Given the description of an element on the screen output the (x, y) to click on. 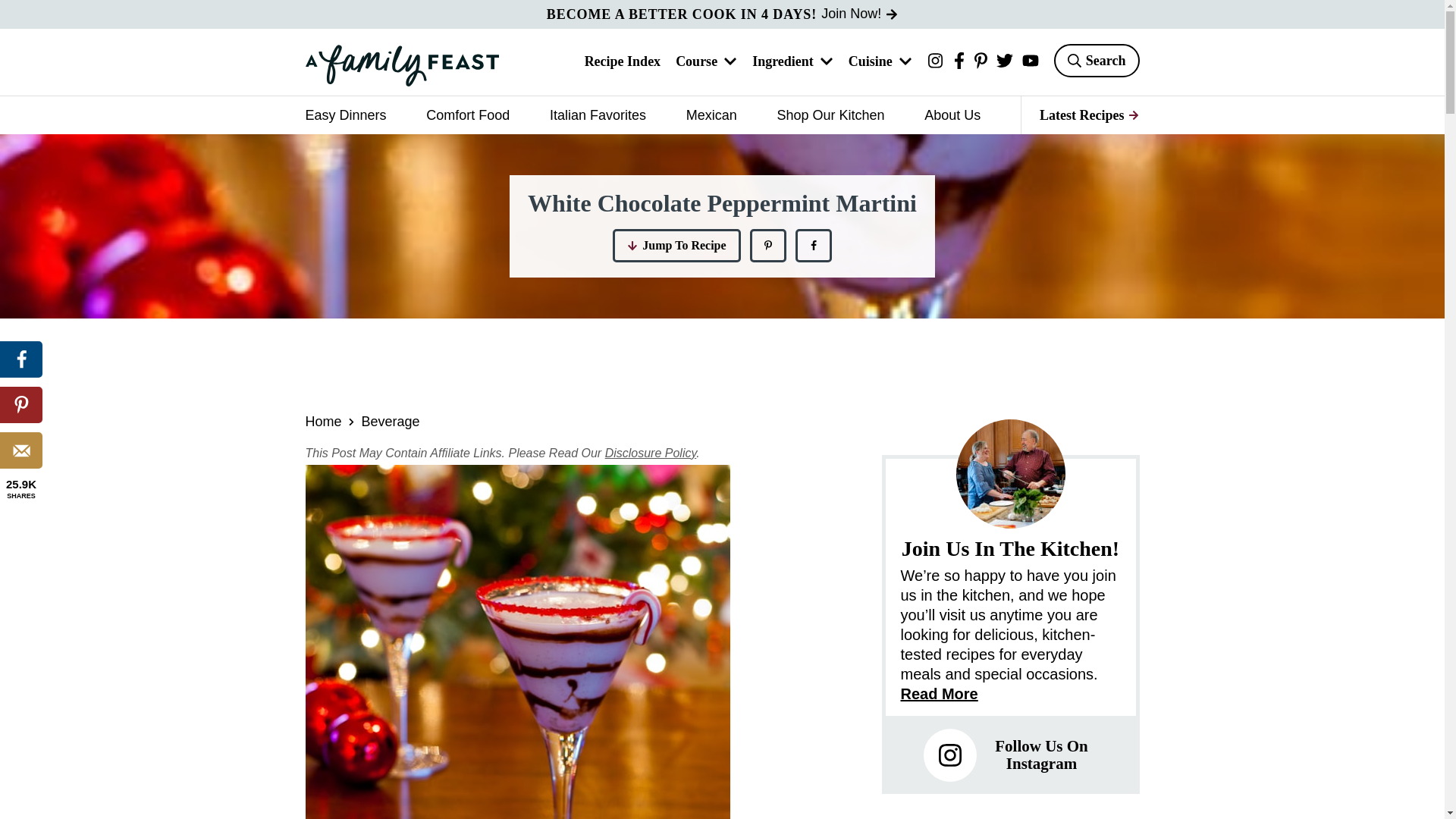
Send over email (21, 450)
Save to Pinterest (767, 245)
Save to Pinterest (21, 404)
Share on Facebook (812, 245)
Join Now! (859, 13)
Recipe Index (623, 62)
Share on Facebook (21, 359)
